Given the description of an element on the screen output the (x, y) to click on. 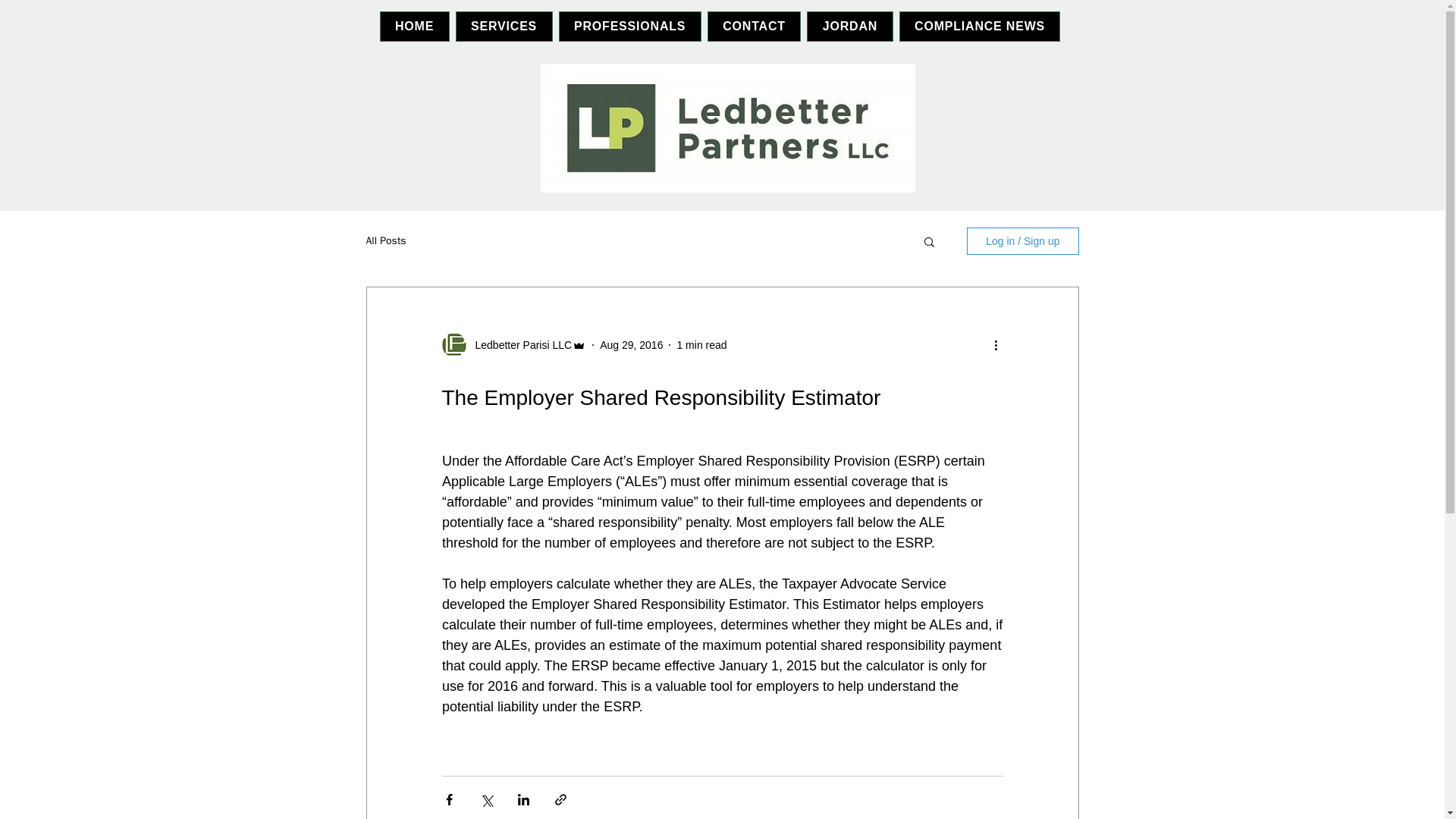
PROFESSIONALS (630, 26)
JORDAN (849, 26)
COMPLIANCE NEWS (980, 26)
1 min read (701, 344)
Ledbetter Parisi LLC (518, 344)
All Posts (385, 241)
Aug 29, 2016 (630, 344)
SERVICES (504, 26)
HOME (413, 26)
CONTACT (754, 26)
NEW WEBSITE SNIP.PNG (727, 127)
